Given the description of an element on the screen output the (x, y) to click on. 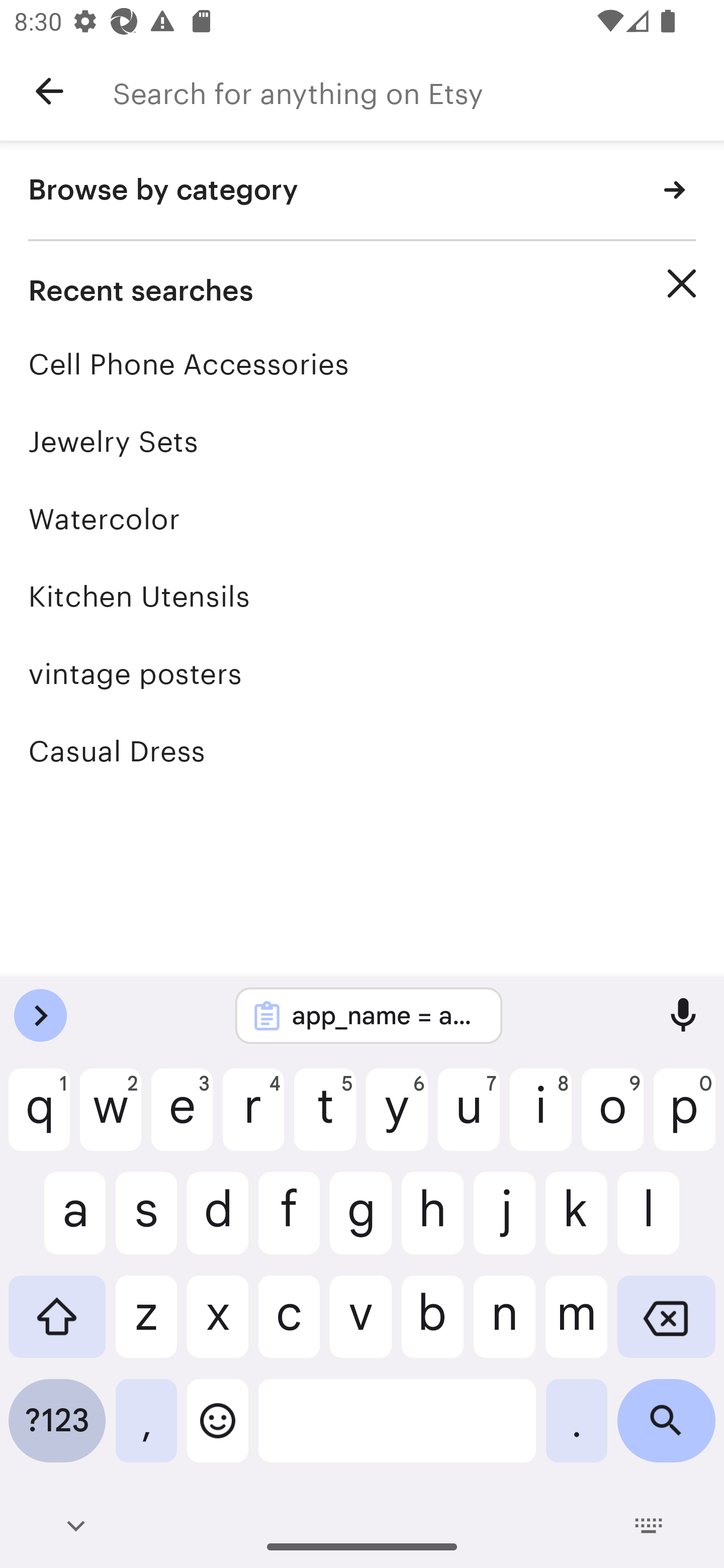
Navigate up (49, 91)
Search for anything on Etsy (418, 91)
Browse by category (362, 191)
Clear (681, 283)
Cell Phone Accessories (362, 364)
Jewelry Sets (362, 440)
Watercolor (362, 518)
Kitchen Utensils (362, 596)
vintage posters (362, 673)
Casual Dress (362, 750)
